Given the description of an element on the screen output the (x, y) to click on. 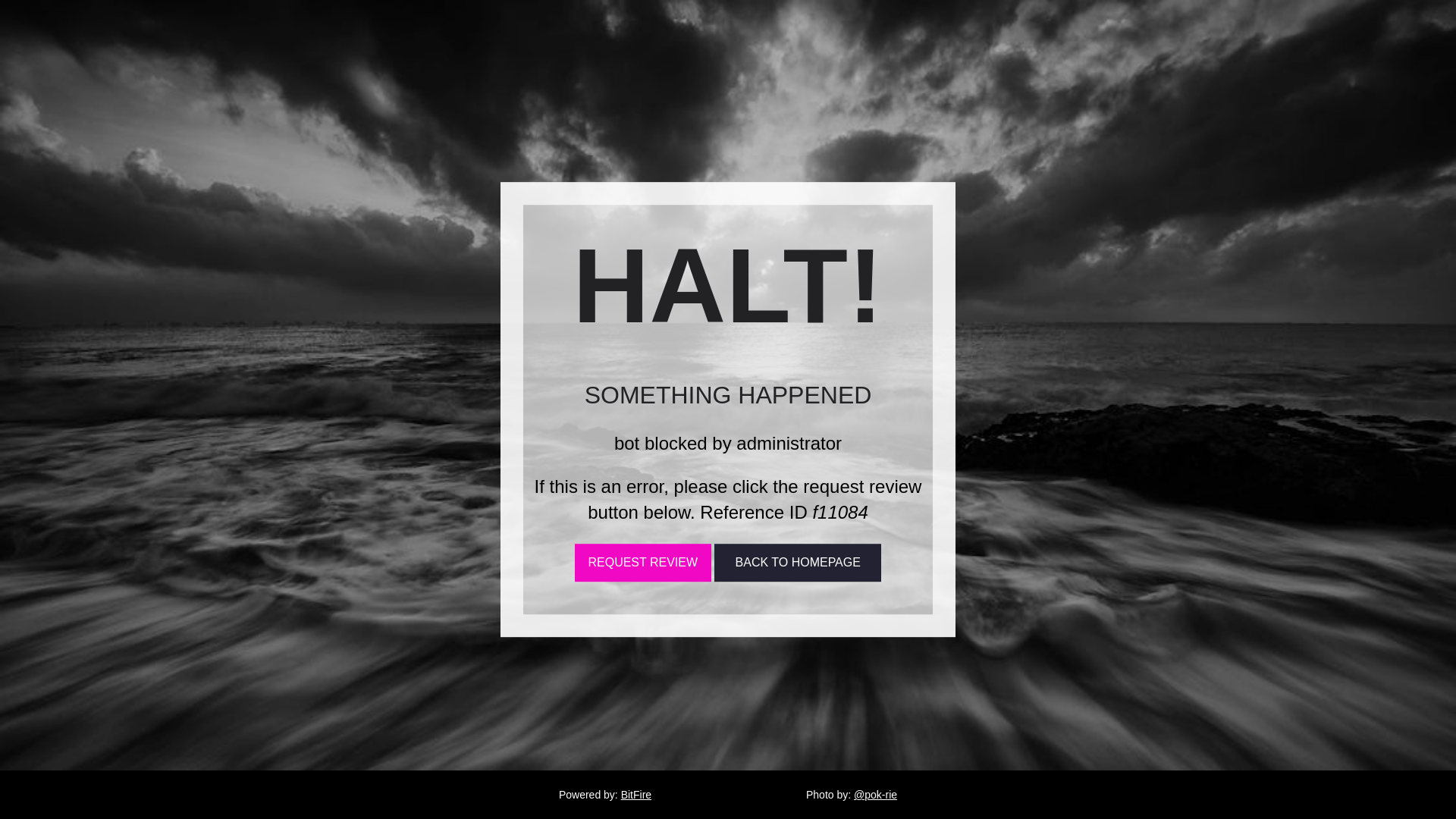
BitFire (635, 794)
BACK TO HOMEPAGE (797, 562)
REQUEST REVIEW (643, 562)
